Given the description of an element on the screen output the (x, y) to click on. 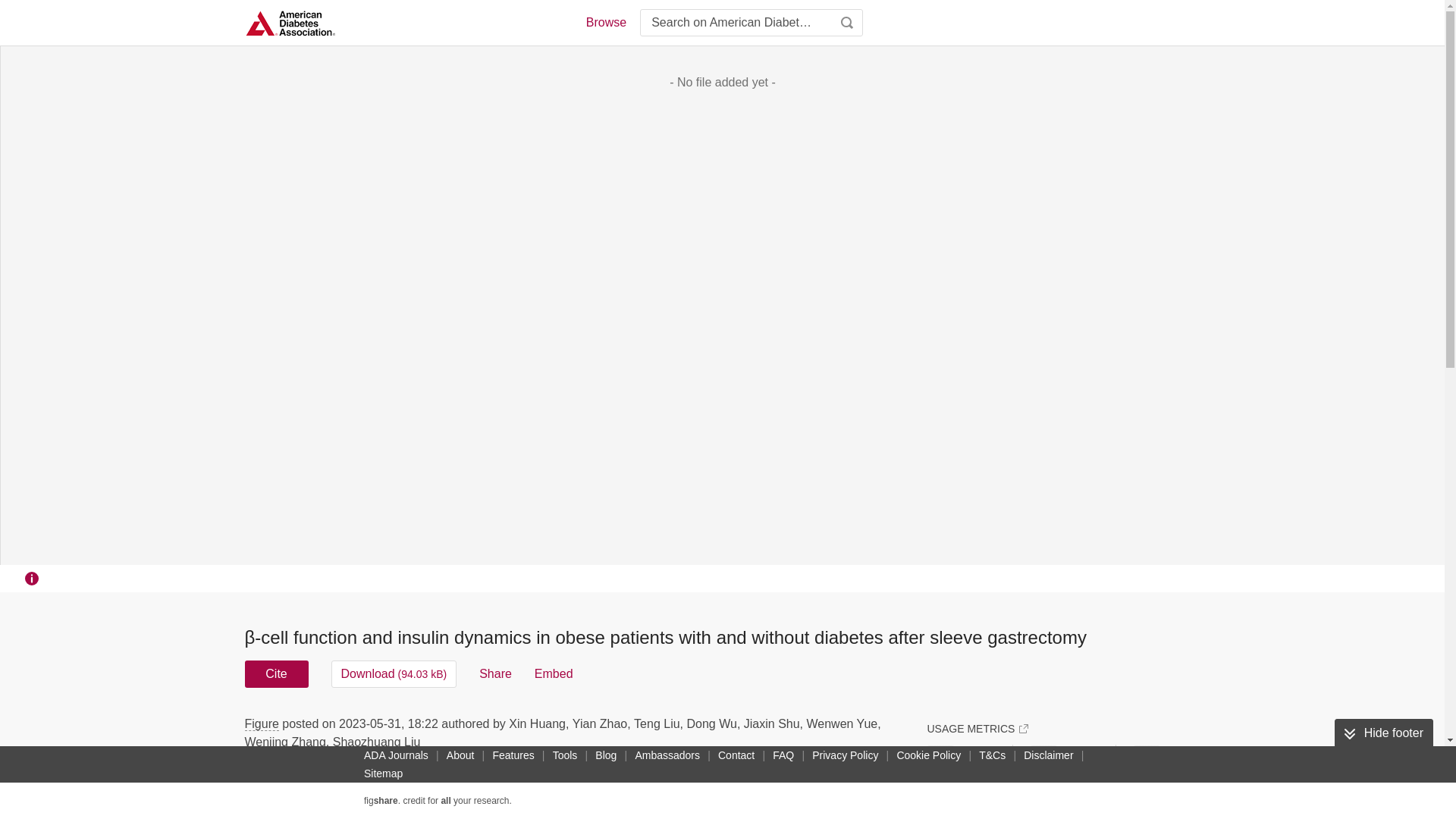
Cookie Policy (928, 755)
Ambassadors (667, 755)
Features (512, 755)
Embed (553, 673)
Browse (605, 22)
FAQ (782, 755)
Contact (735, 755)
Cite (275, 673)
Blog (606, 755)
Share (495, 673)
USAGE METRICS (976, 728)
Hide footer (1383, 733)
Privacy Policy (845, 755)
About (460, 755)
ADA Journals (395, 755)
